Given the description of an element on the screen output the (x, y) to click on. 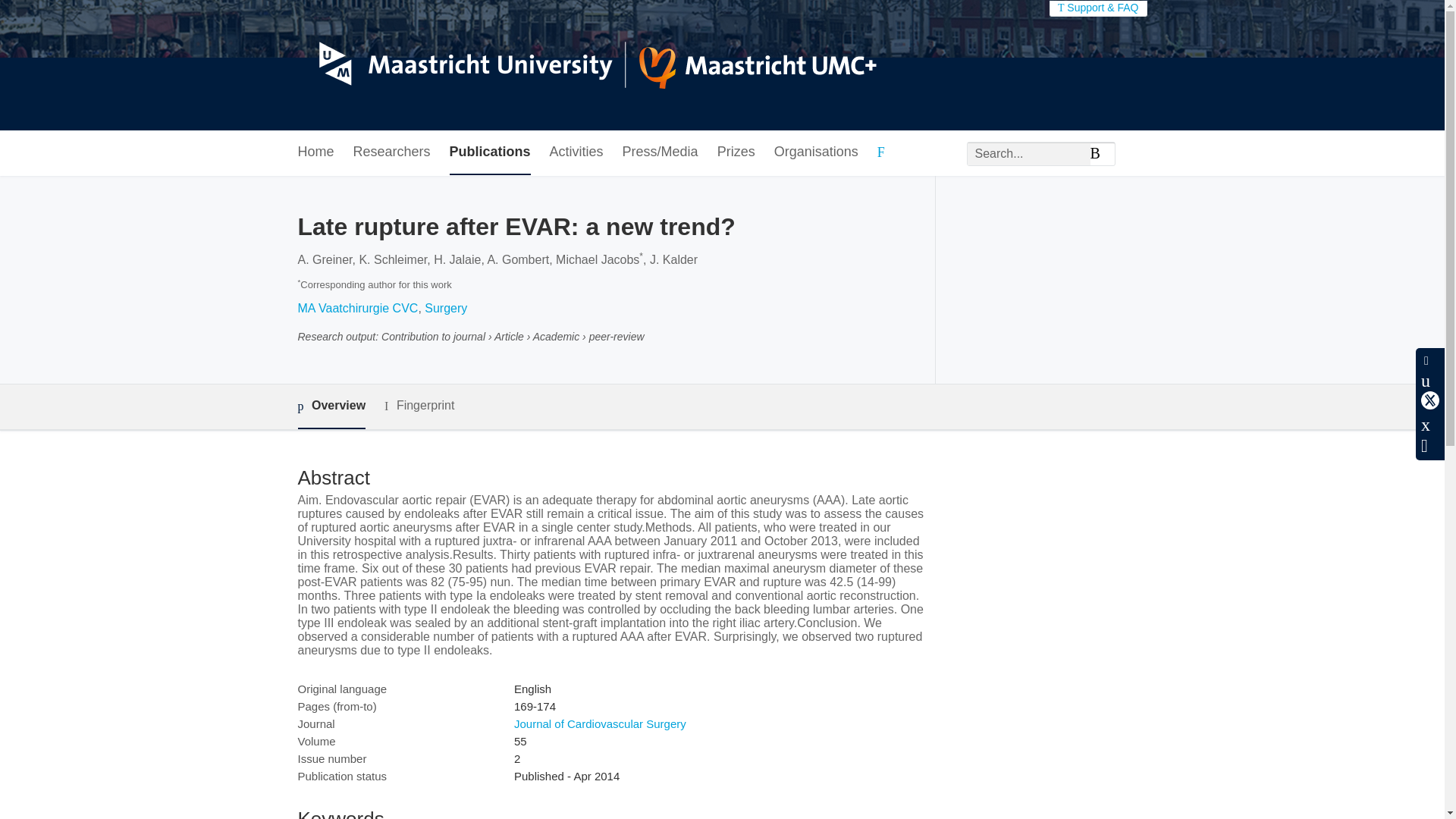
Journal of Cardiovascular Surgery (599, 723)
Organisations (816, 152)
Publications (490, 152)
Surgery (446, 308)
Fingerprint (419, 405)
Overview (331, 406)
MA Vaatchirurgie CVC (357, 308)
Activities (577, 152)
Maastricht University Home (586, 64)
